Given the description of an element on the screen output the (x, y) to click on. 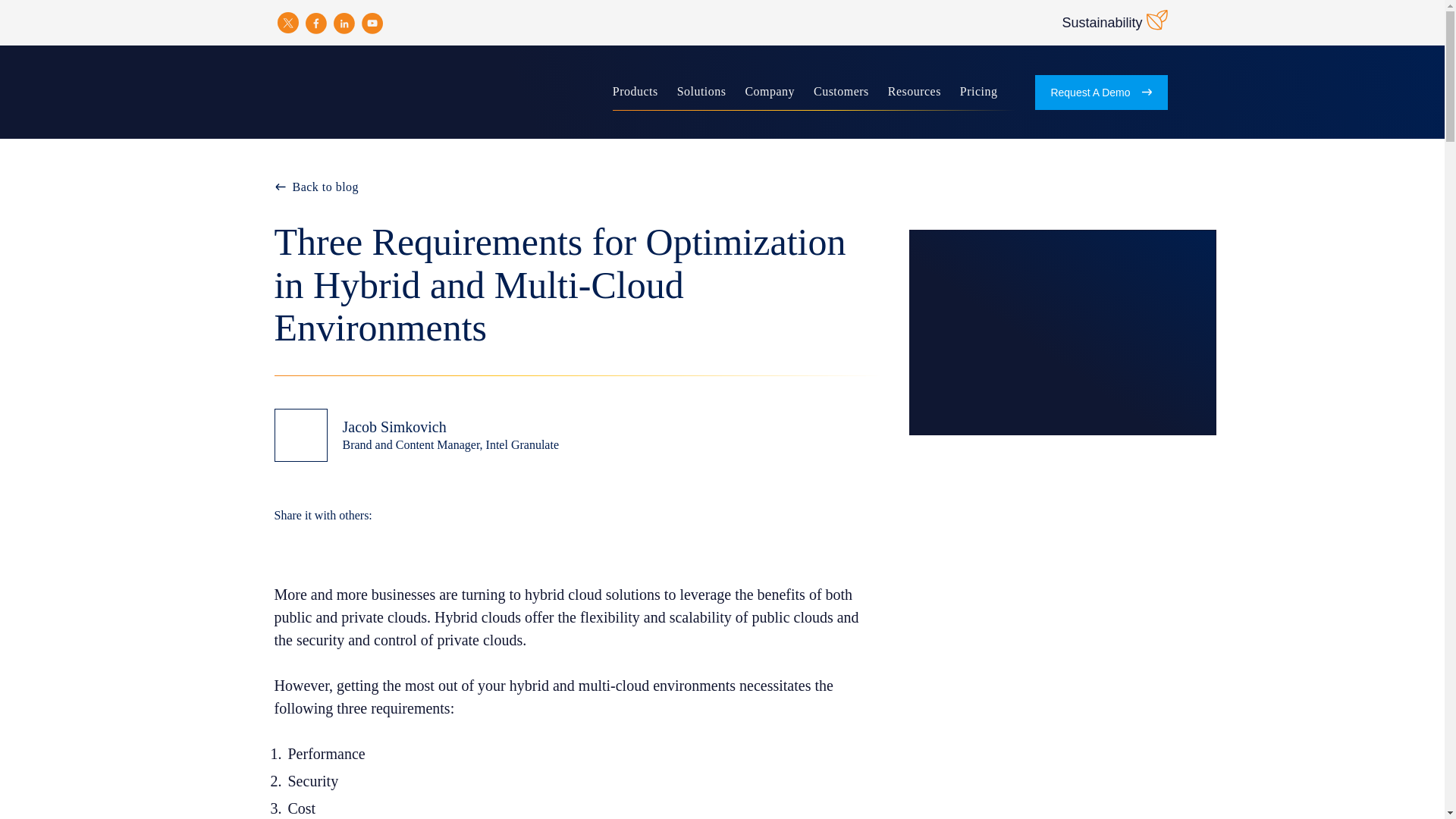
Sustainability (1114, 22)
Resources (914, 92)
Solutions (701, 92)
Company (769, 92)
Products (635, 92)
Customers (841, 92)
